Given the description of an element on the screen output the (x, y) to click on. 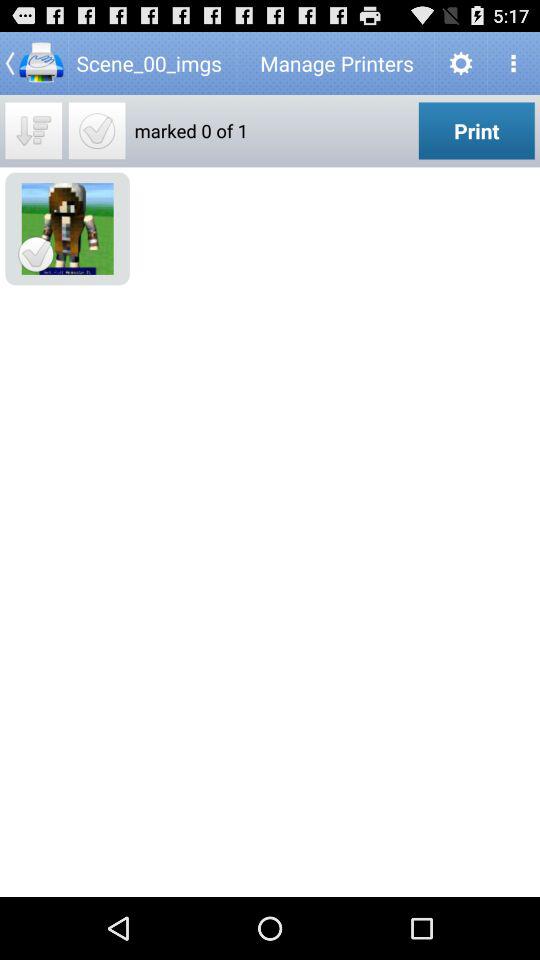
mark all (96, 130)
